Given the description of an element on the screen output the (x, y) to click on. 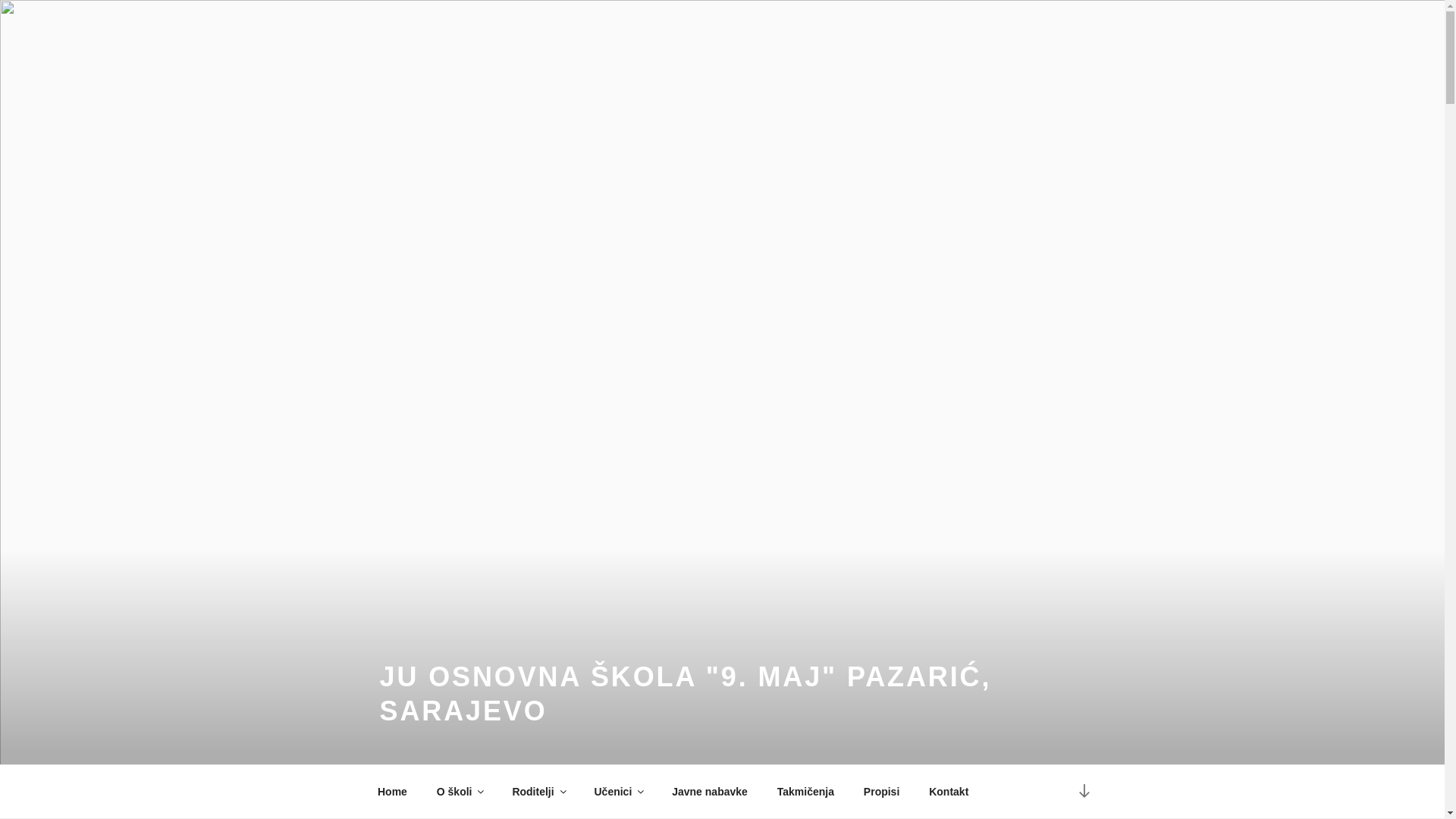
Roditelji Element type: text (537, 791)
Javne nabavke Element type: text (709, 791)
Kontakt Element type: text (949, 791)
Home Element type: text (392, 791)
Propisi Element type: text (881, 791)
